Given the description of an element on the screen output the (x, y) to click on. 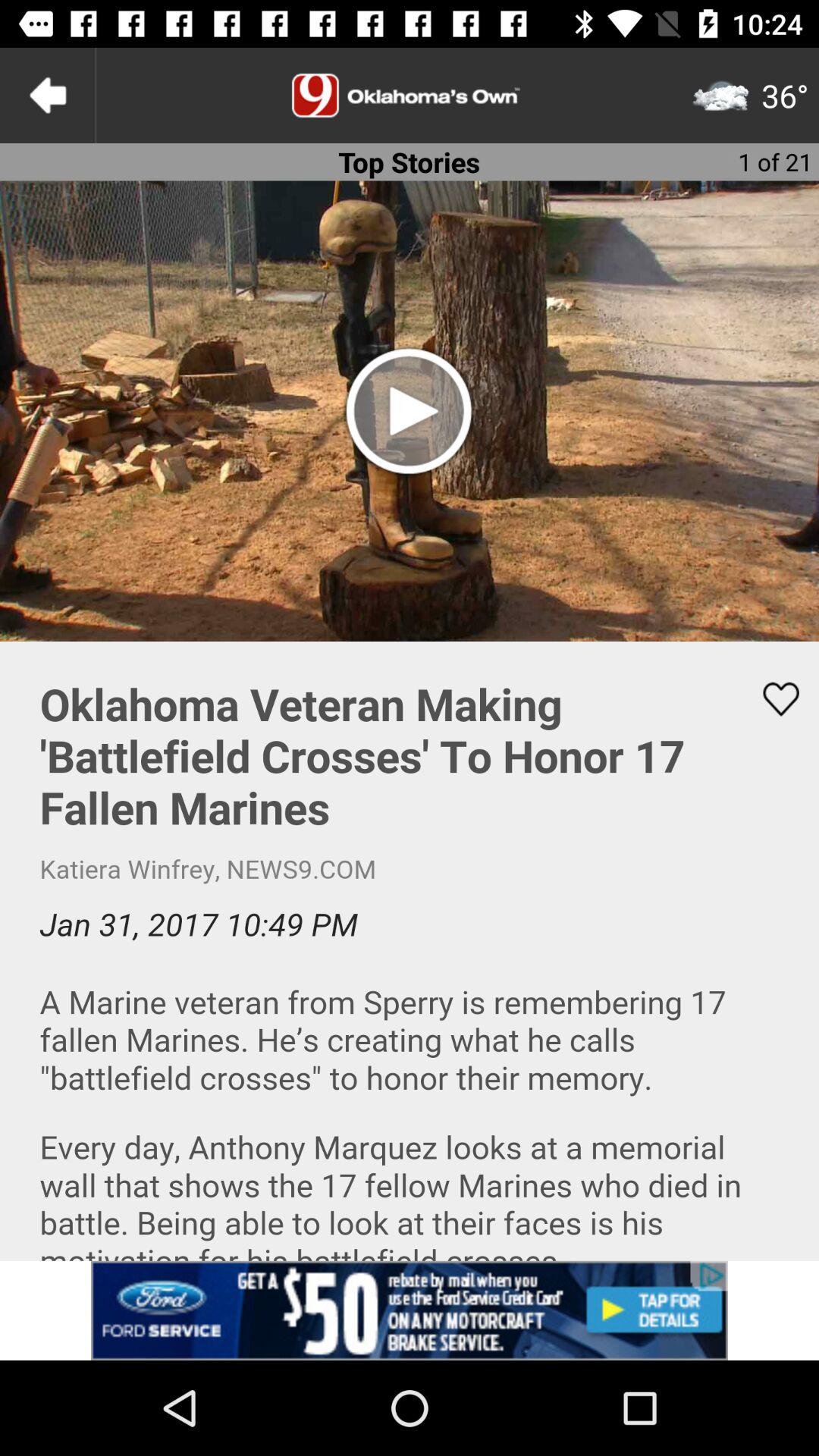
adds story to favorites (771, 699)
